Given the description of an element on the screen output the (x, y) to click on. 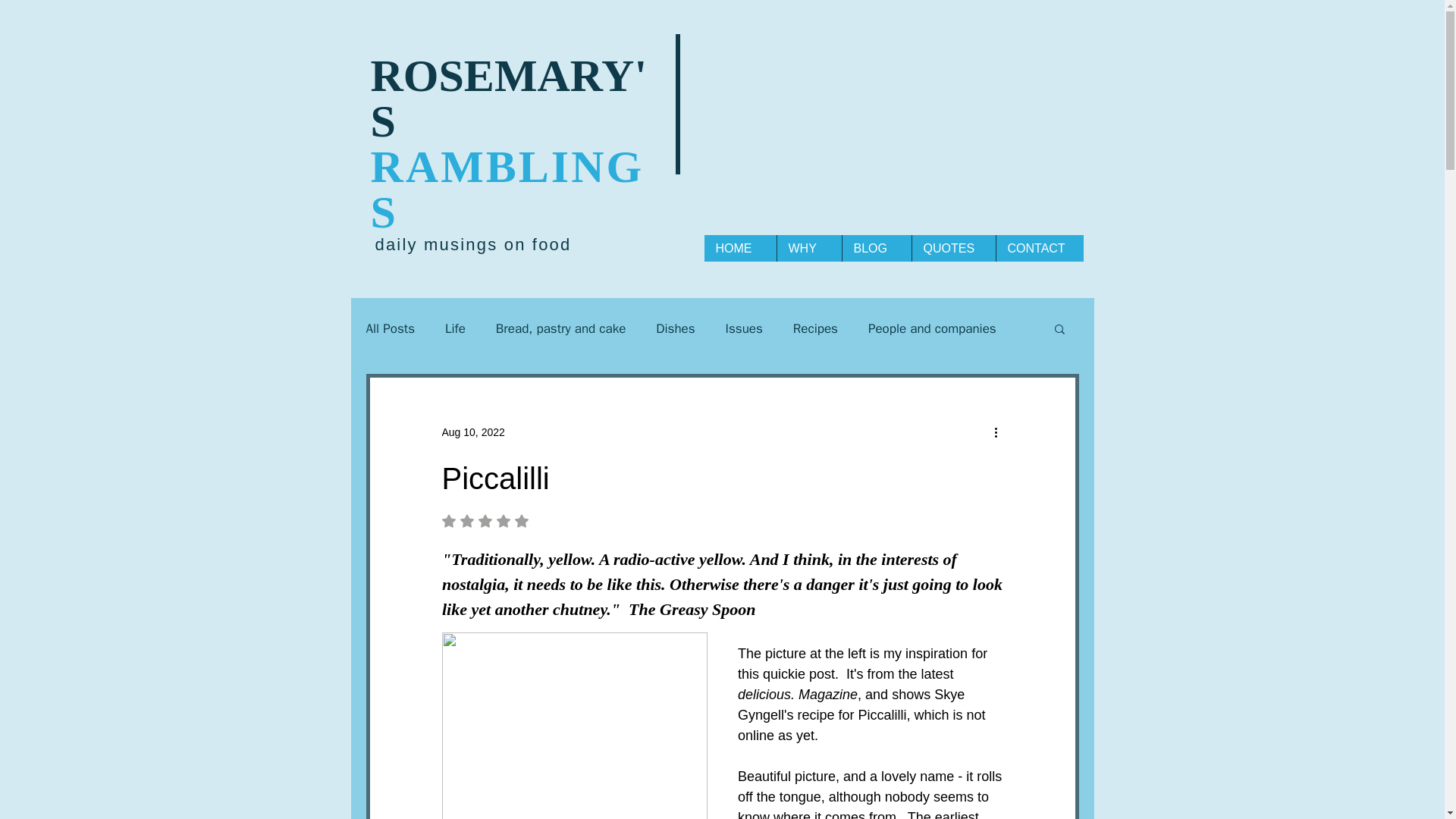
BLOG (876, 248)
WHY (808, 248)
Issues (743, 328)
Recipes (815, 328)
CONTACT (1038, 248)
Life (455, 328)
daily musings on food (472, 244)
QUOTES (953, 248)
People and companies (931, 328)
Aug 10, 2022 (472, 431)
Bread, pastry and cake (521, 520)
HOME (561, 328)
Dishes (739, 248)
All Posts (675, 328)
